Given the description of an element on the screen output the (x, y) to click on. 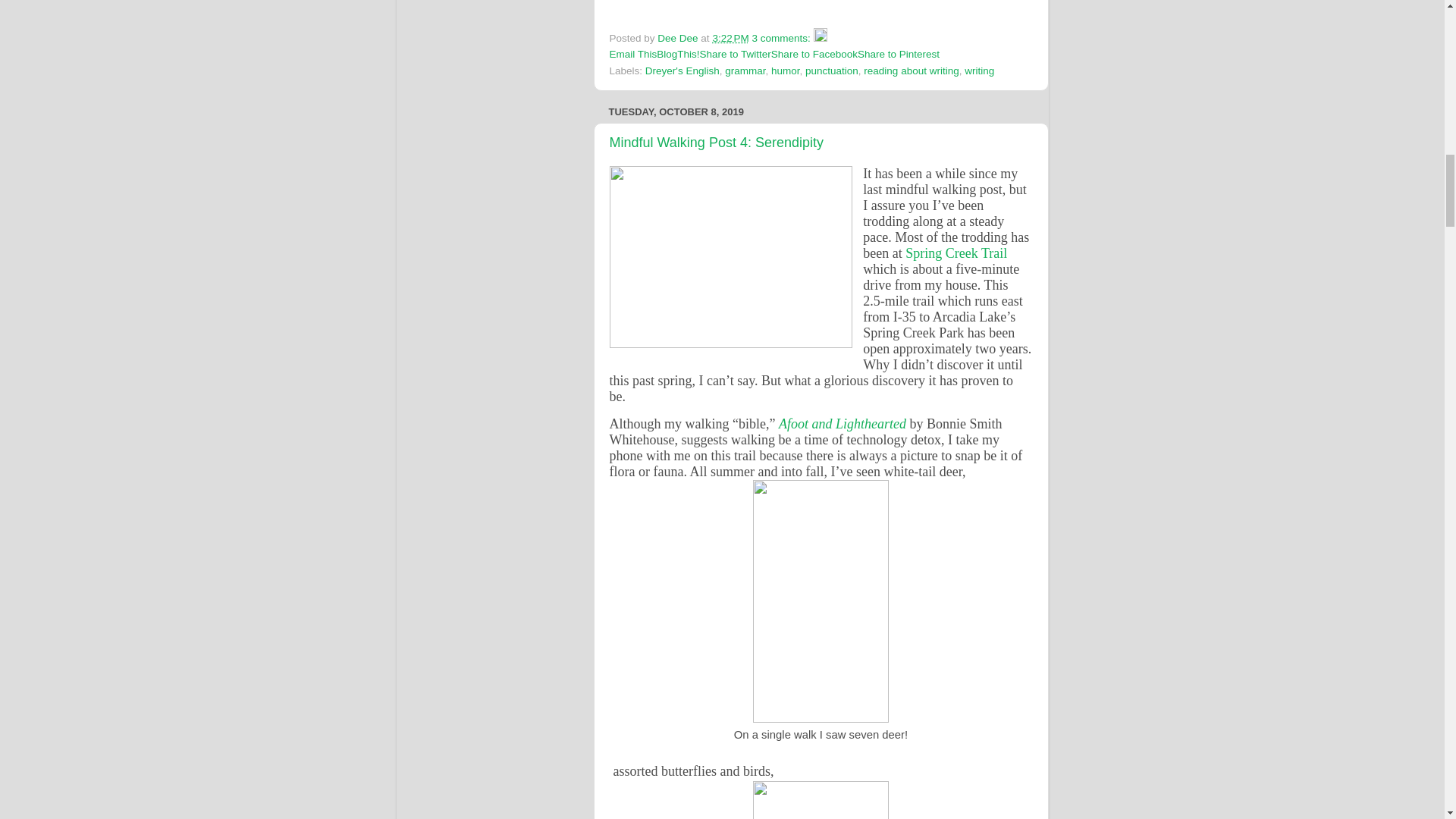
reading about writing (910, 70)
Edit Post (820, 38)
Share to Twitter (735, 53)
Afoot and Lighthearted (844, 423)
Dee Dee (679, 38)
permanent link (729, 38)
3 comments: (782, 38)
grammar (745, 70)
Share to Twitter (735, 53)
Email This (634, 53)
Share to Facebook (814, 53)
author profile (679, 38)
BlogThis! (677, 53)
Dreyer's English (682, 70)
Email This (634, 53)
